Given the description of an element on the screen output the (x, y) to click on. 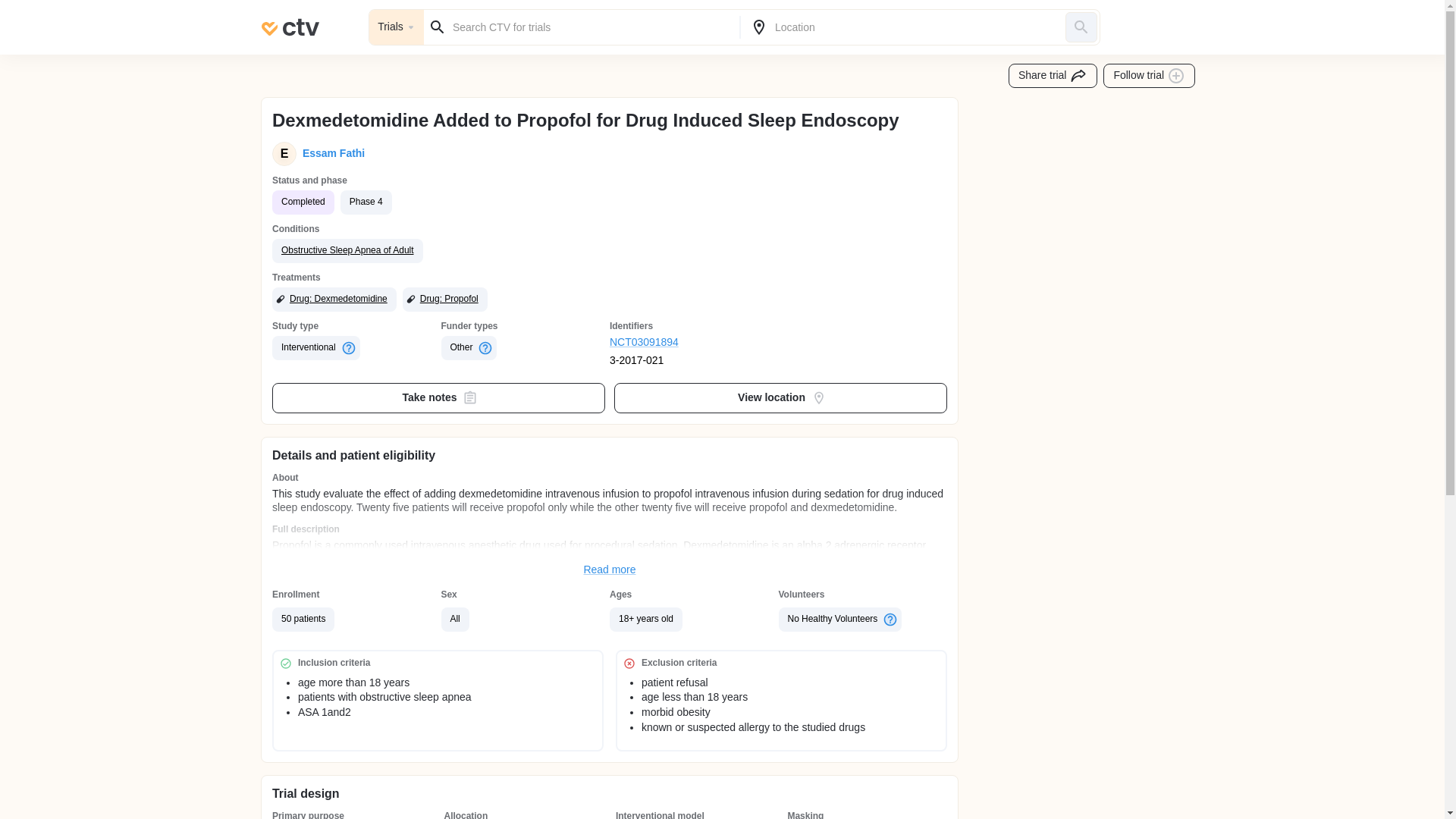
NCT03091894 (694, 342)
Take notes (438, 398)
Essam Fathi (331, 153)
View location (780, 398)
Trials (396, 27)
Share trial (1053, 75)
Follow trial (1149, 75)
Read more (609, 570)
